Given the description of an element on the screen output the (x, y) to click on. 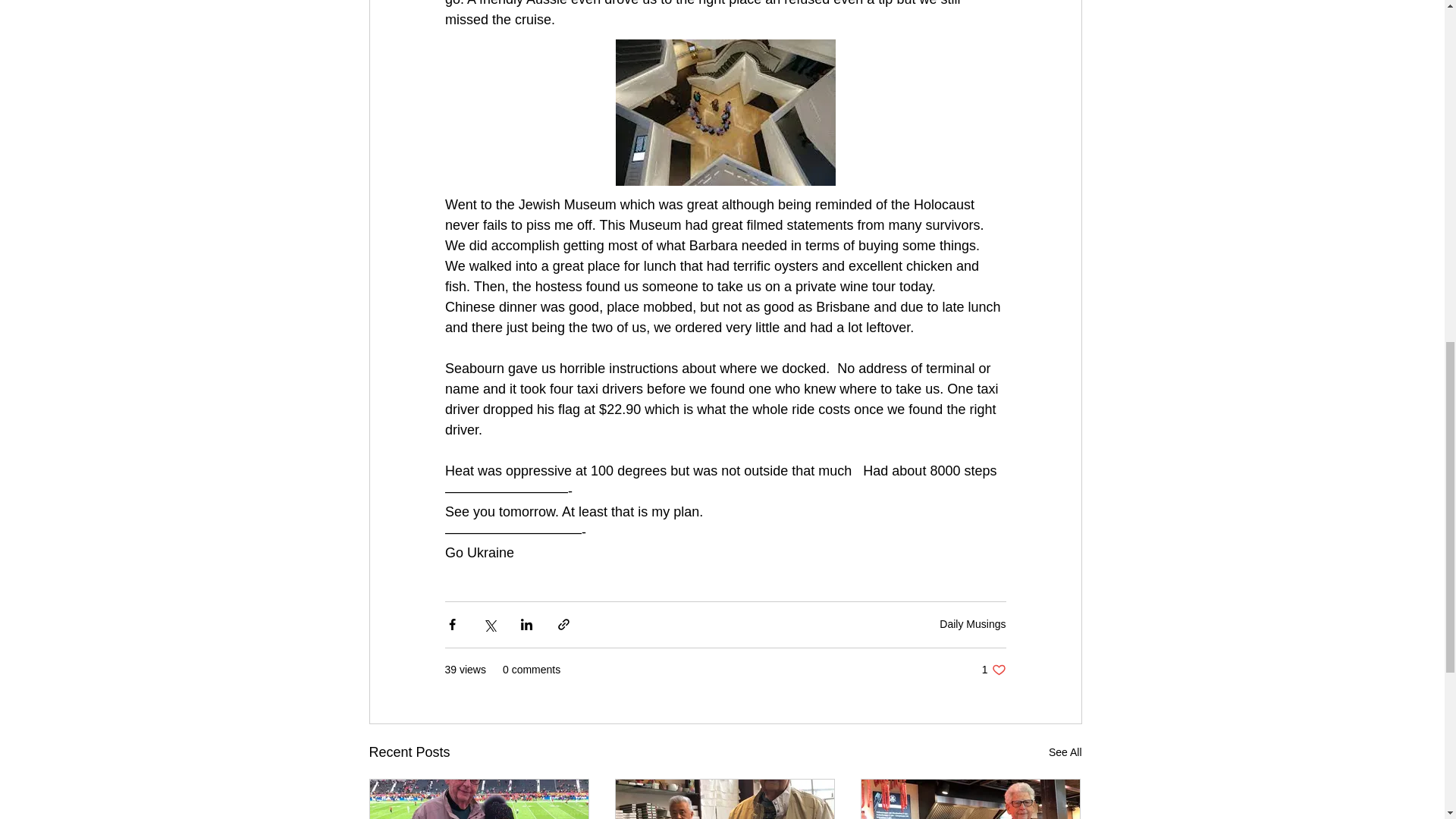
See All (1064, 752)
Daily Musings (993, 669)
